Given the description of an element on the screen output the (x, y) to click on. 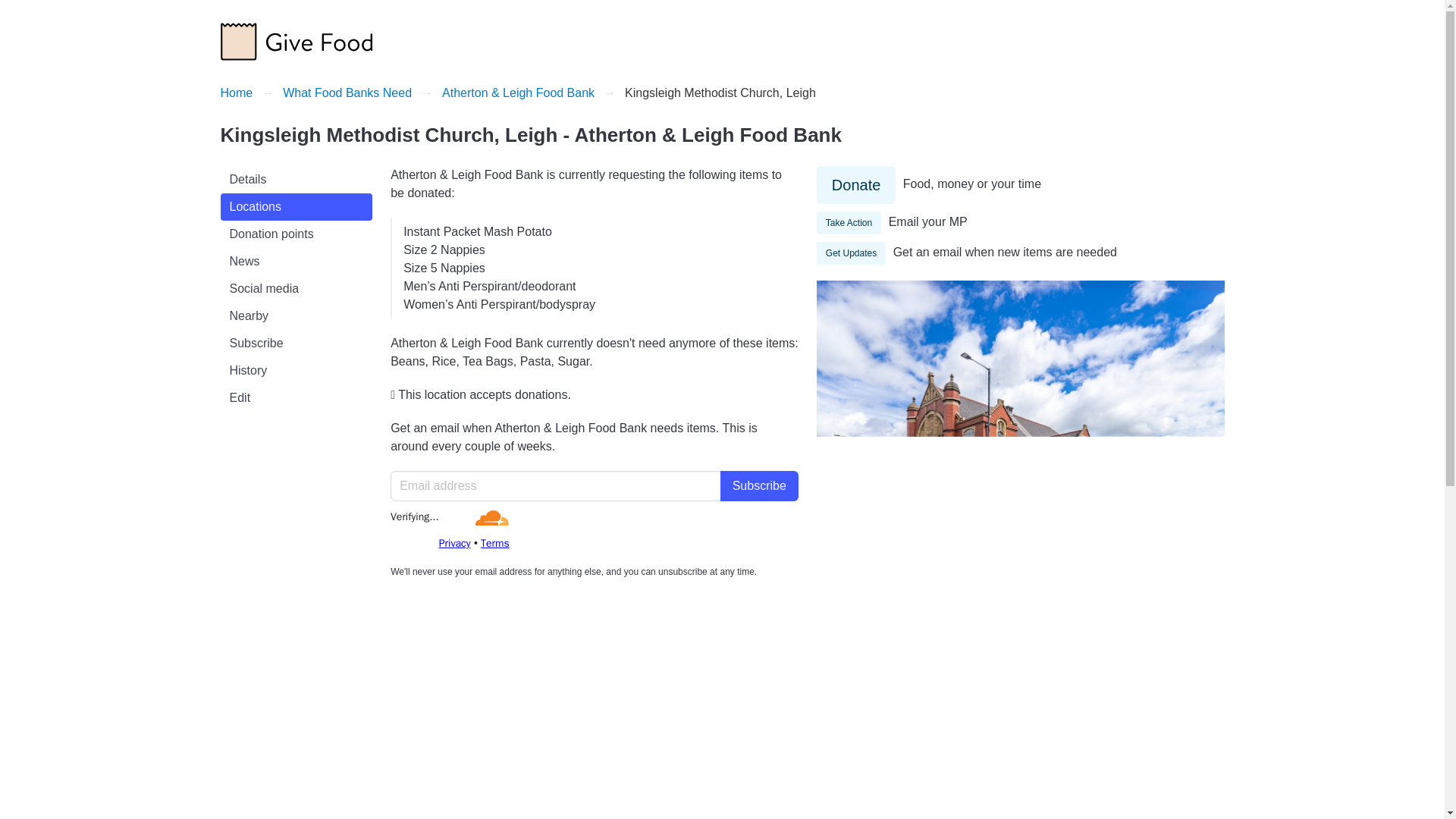
Kingsleigh Methodist Church, Leigh (720, 93)
Donate (856, 184)
Home (240, 93)
What Food Banks Need (346, 93)
Subscribe (758, 485)
Nearby (295, 316)
Subscribe (295, 343)
Take Action (848, 222)
Locations (295, 206)
News (295, 261)
